Given the description of an element on the screen output the (x, y) to click on. 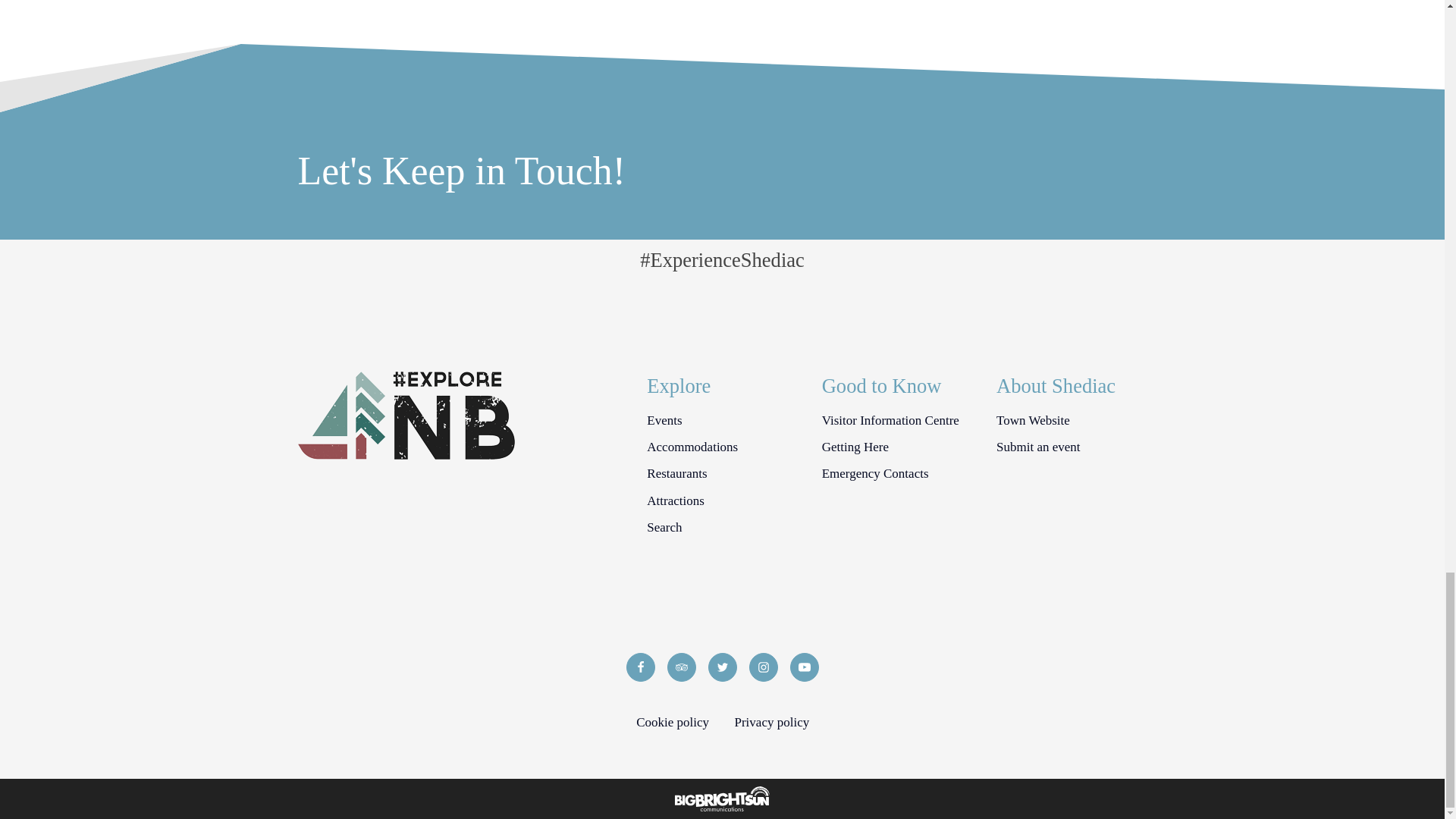
Events (663, 420)
Accommodations (692, 446)
